Given the description of an element on the screen output the (x, y) to click on. 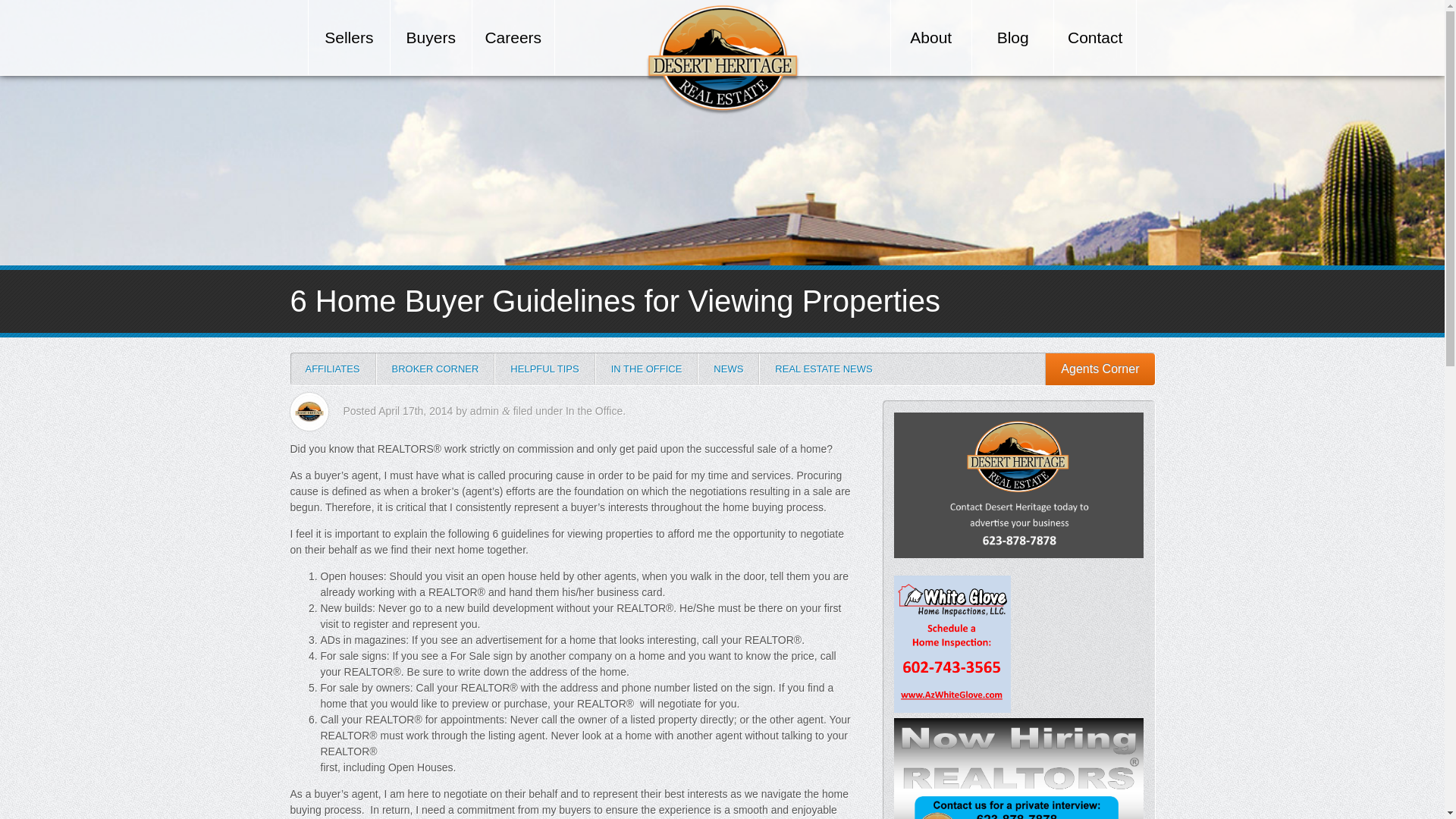
NEWS (727, 368)
About (930, 38)
Blog (1012, 38)
Contact (1094, 38)
AFFILIATES (331, 368)
HELPFUL TIPS (544, 368)
REAL ESTATE NEWS (823, 368)
BROKER CORNER (435, 368)
Careers (512, 38)
Buyers (430, 38)
Sellers (348, 38)
IN THE OFFICE (646, 368)
